Given the description of an element on the screen output the (x, y) to click on. 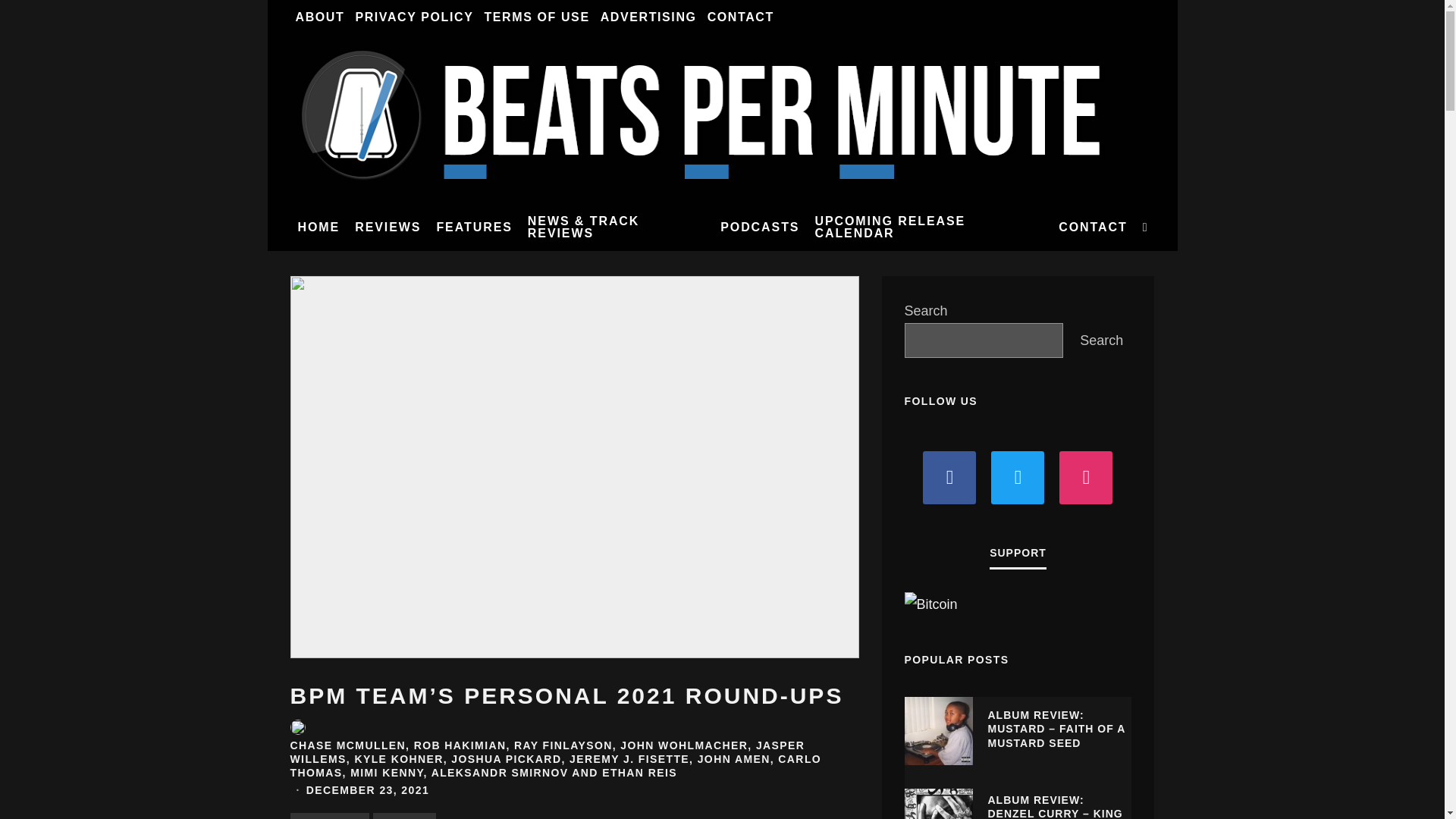
REVIEWS (387, 226)
TERMS OF USE (536, 17)
ABOUT (319, 17)
HOME (318, 226)
FEATURES (473, 226)
PRIVACY POLICY (414, 17)
CONTACT (739, 17)
ADVERTISING (648, 17)
